Given the description of an element on the screen output the (x, y) to click on. 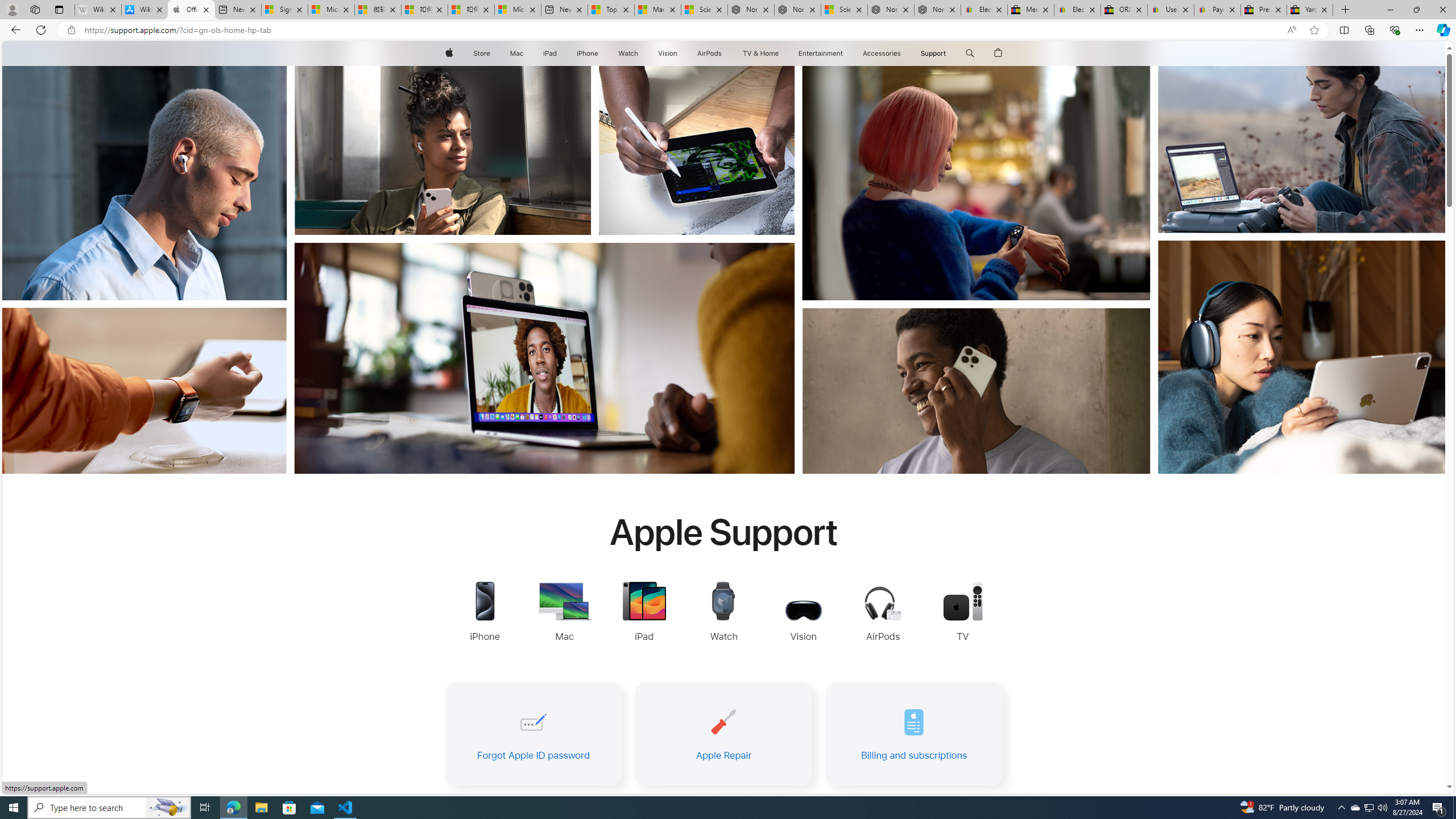
Shopping Bag (998, 53)
TV and Home menu (780, 53)
AirPods menu (723, 53)
Accessories (881, 53)
